Given the description of an element on the screen output the (x, y) to click on. 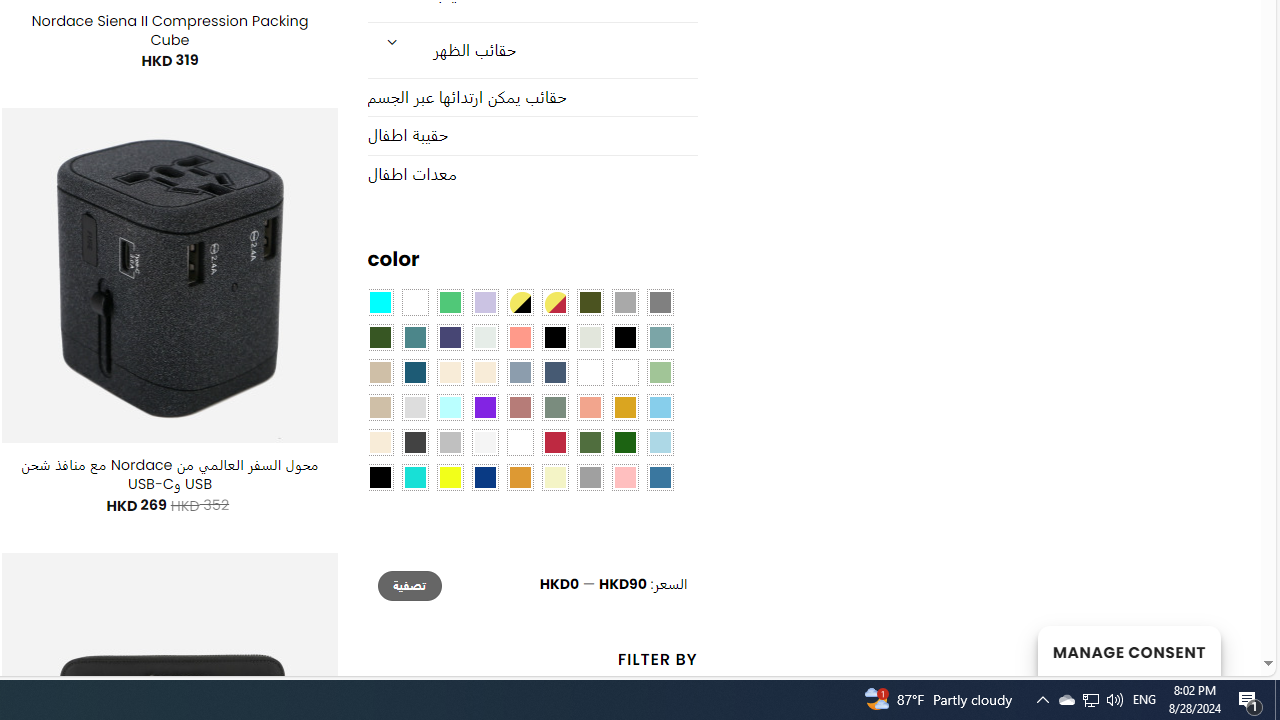
Hale Navy (554, 372)
Yellow-Red (554, 303)
Cream (484, 372)
Rose (519, 408)
Capri Blue (414, 372)
Forest (379, 337)
Ash Gray (589, 337)
Sage (554, 408)
